Given the description of an element on the screen output the (x, y) to click on. 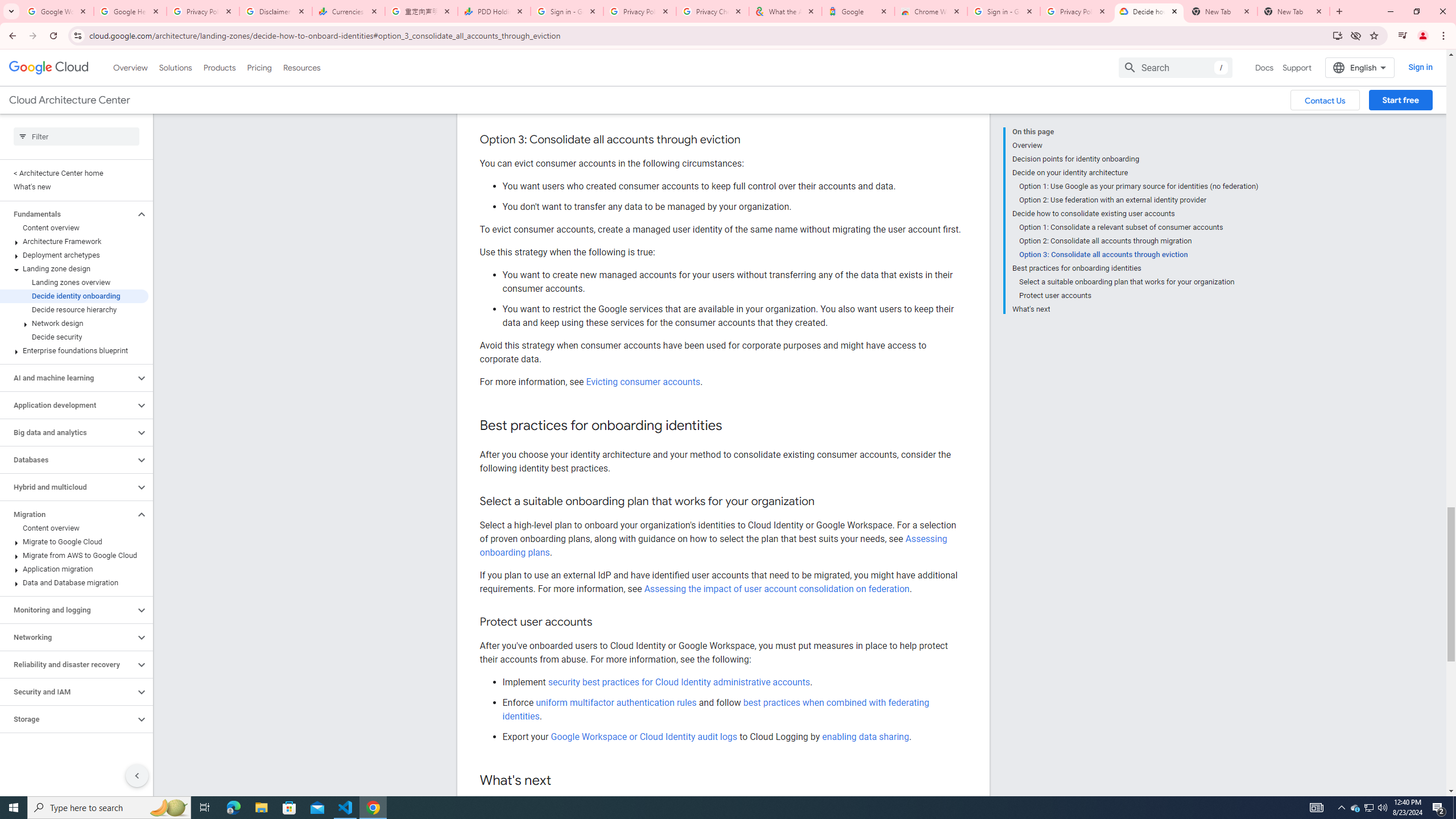
Sign in - Google Accounts (566, 11)
Application migration (74, 568)
Monitoring and logging (67, 609)
Content overview (74, 527)
Landing zone design (74, 269)
Deployment archetypes (74, 255)
best practices when combined with federating identities (715, 708)
Copy link to this section: What's next (563, 780)
Migration (67, 514)
< Architecture Center home (74, 173)
